Given the description of an element on the screen output the (x, y) to click on. 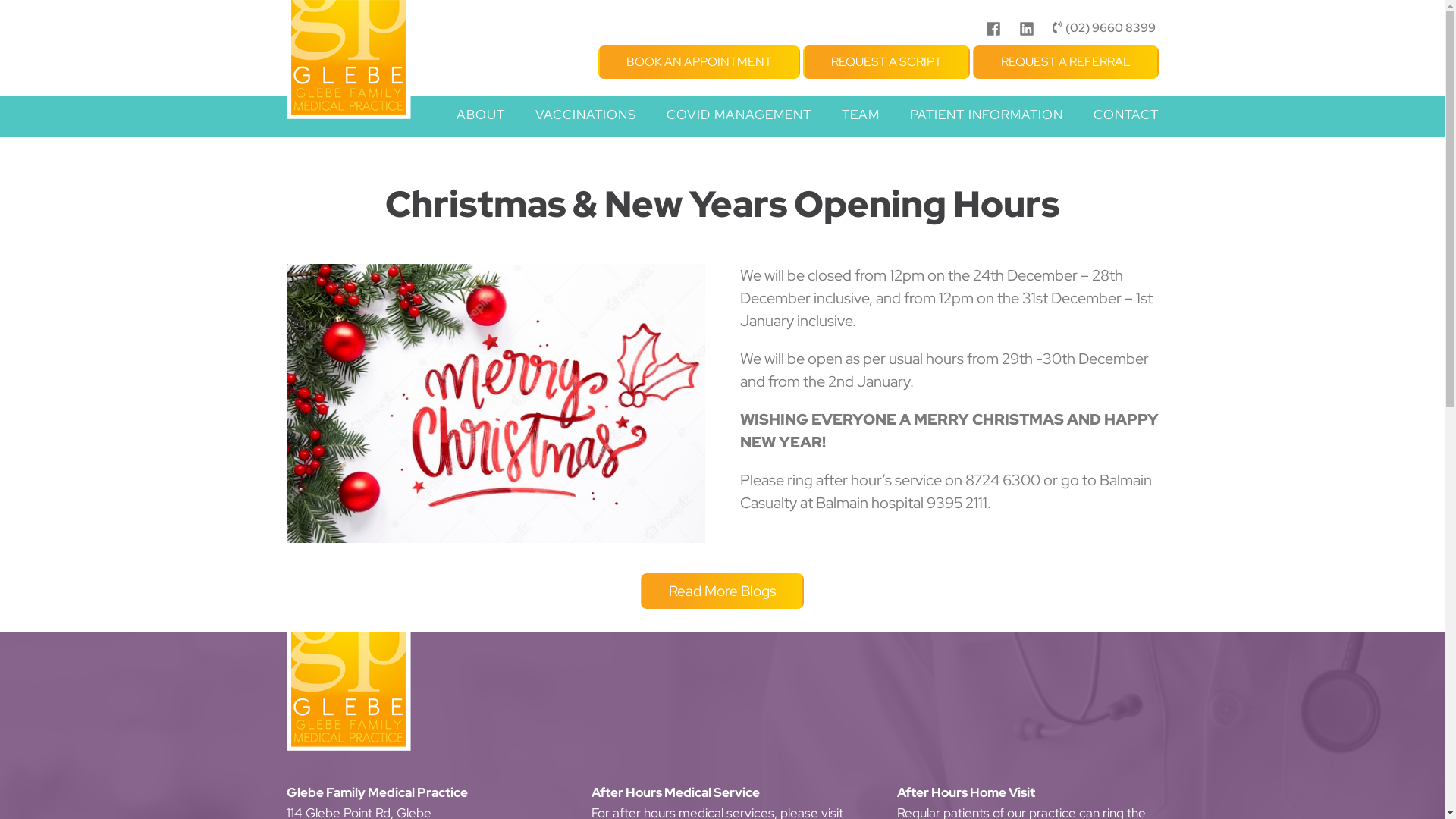
COVID MANAGEMENT Element type: text (738, 116)
CONTACT Element type: text (1122, 116)
Read More Blogs Element type: text (721, 590)
BOOK AN APPOINTMENT Element type: text (698, 61)
merry-christmas-lettering-christmas-photo_23-2148380782 Element type: hover (495, 402)
TEAM Element type: text (859, 116)
VACCINATIONS Element type: text (584, 116)
REQUEST A REFERRAL Element type: text (1064, 61)
(02) 9660 8399 Element type: text (1105, 27)
PATIENT INFORMATION Element type: text (985, 116)
REQUEST A SCRIPT Element type: text (885, 61)
ABOUT Element type: text (479, 116)
